Given the description of an element on the screen output the (x, y) to click on. 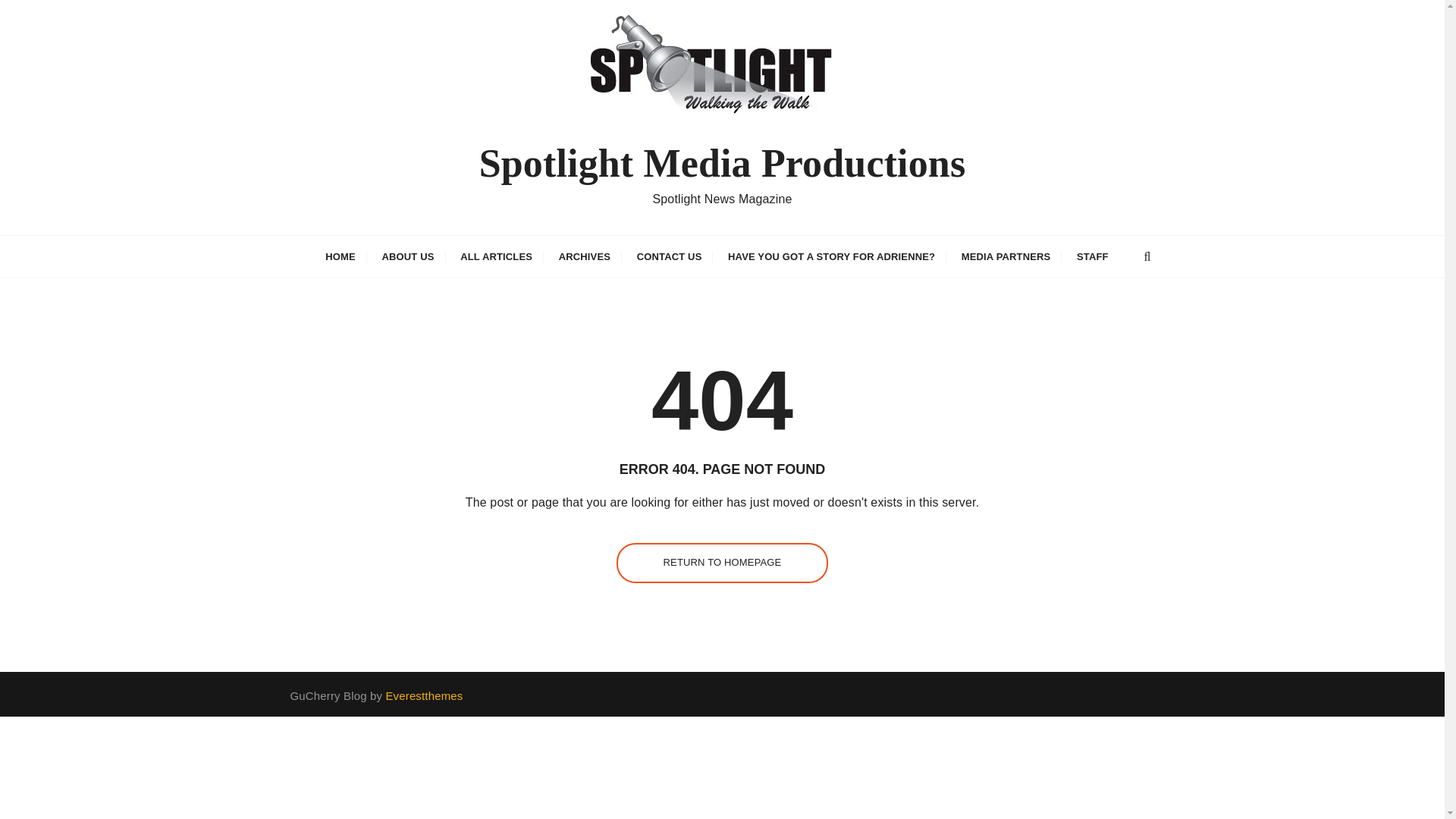
Everestthemes (424, 695)
ABOUT US (407, 256)
MEDIA PARTNERS (1006, 256)
ALL ARTICLES (495, 256)
ARCHIVES (584, 256)
RETURN TO HOMEPAGE (721, 562)
HOME (340, 256)
STAFF (1092, 256)
HAVE YOU GOT A STORY FOR ADRIENNE? (831, 256)
CONTACT US (669, 256)
